Given the description of an element on the screen output the (x, y) to click on. 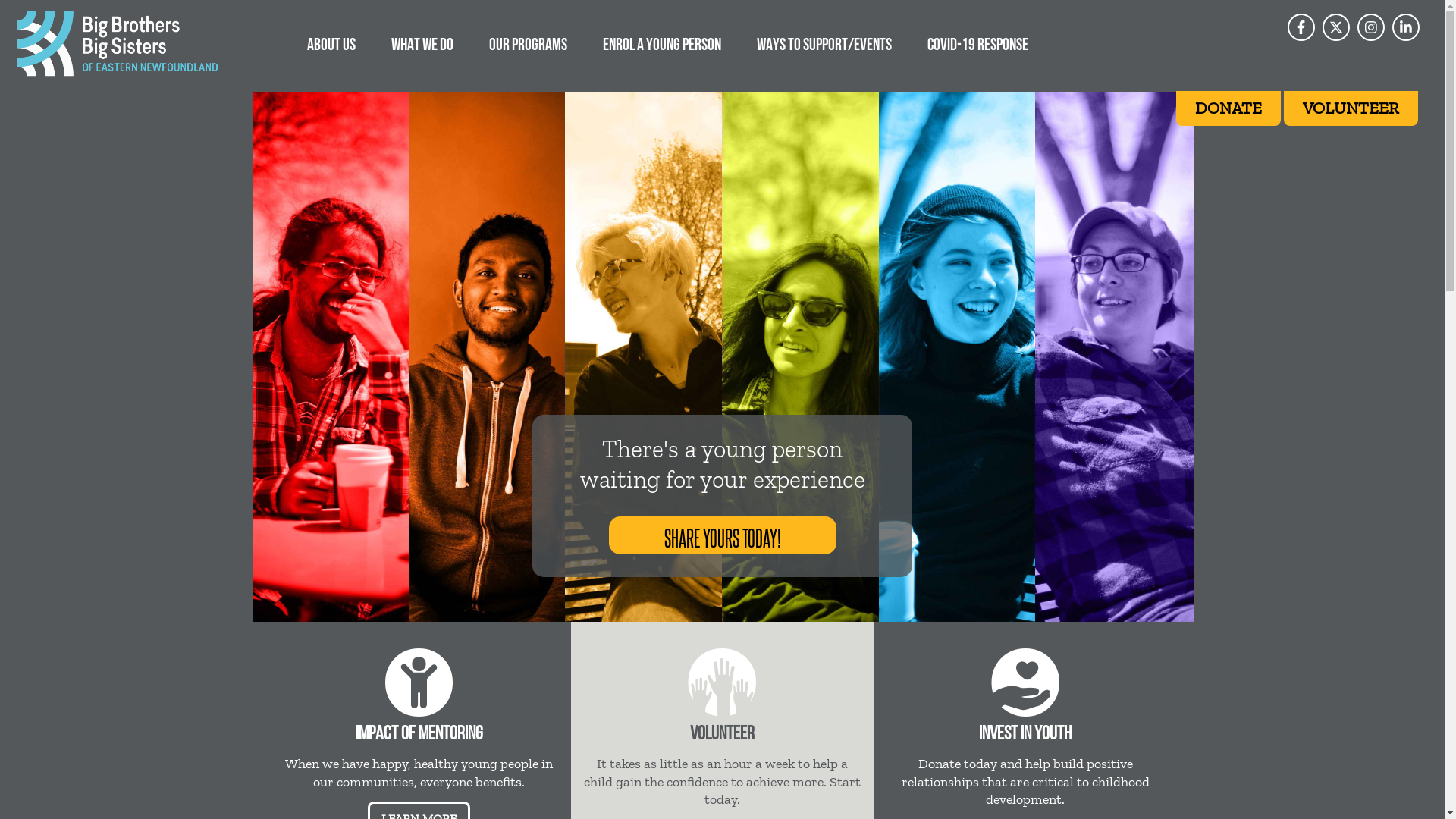
VOLUNTEER Element type: text (1350, 108)
WAYS TO SUPPORT/EVENTS Element type: text (823, 44)
OUR PROGRAMS Element type: text (527, 44)
DONATE Element type: text (1228, 108)
WHAT WE DO Element type: text (422, 44)
There's a young person
waiting for your experience Element type: text (721, 464)
COVID-19 RESPONSE Element type: text (977, 44)
ENROL A YOUNG PERSON Element type: text (661, 44)
ABOUT US Element type: text (330, 44)
